Given the description of an element on the screen output the (x, y) to click on. 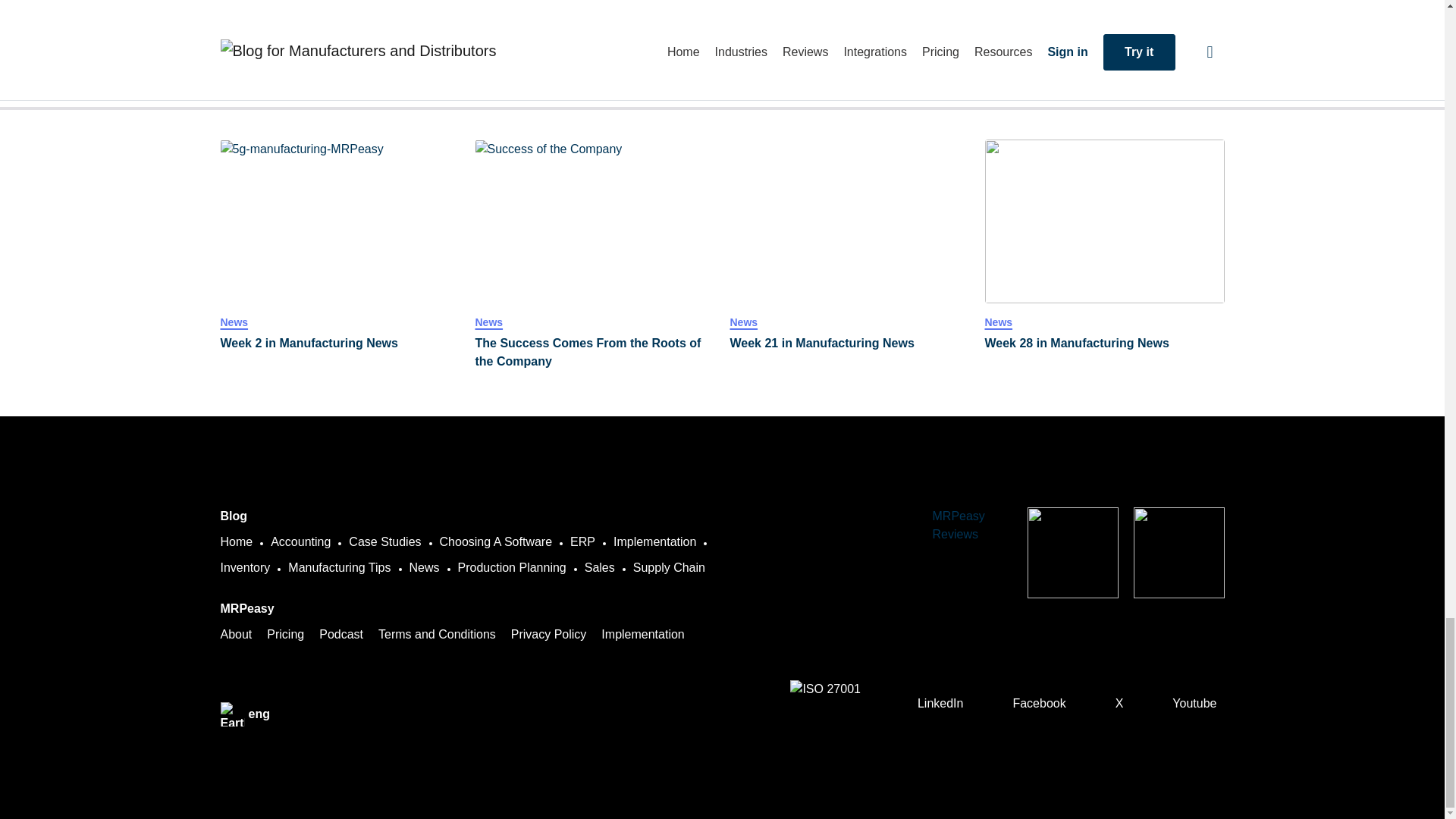
Week 2 in Manufacturing News (339, 221)
Week 2 in Manufacturing News (339, 343)
Week 21 in Manufacturing News (849, 221)
The Success Comes From the Roots of the Company (594, 221)
The Success Comes From the Roots of the Company (594, 352)
